Given the description of an element on the screen output the (x, y) to click on. 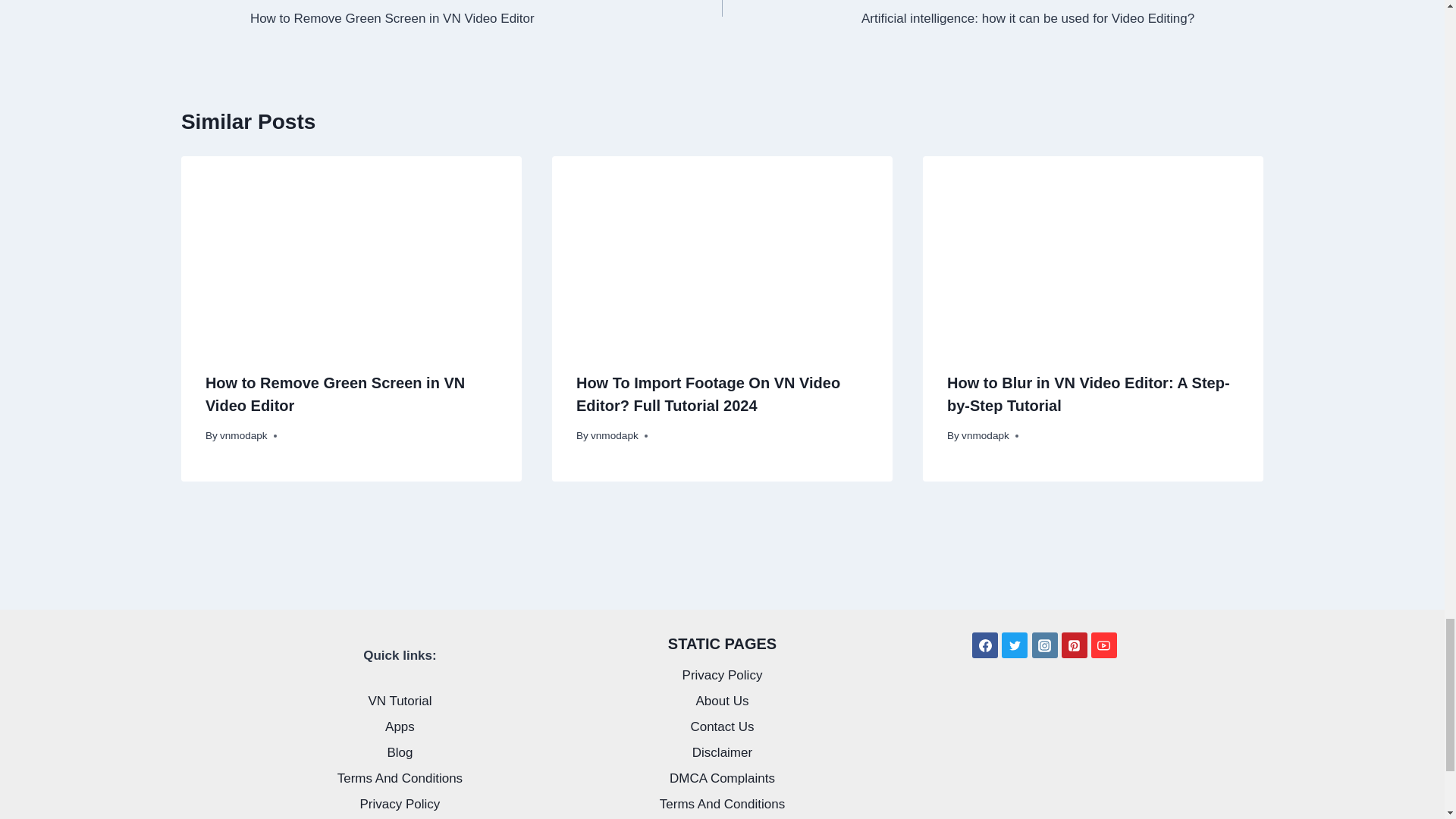
How to Remove Green Screen in VN Video Editor (334, 394)
vnmodapk (486, 14)
